Given the description of an element on the screen output the (x, y) to click on. 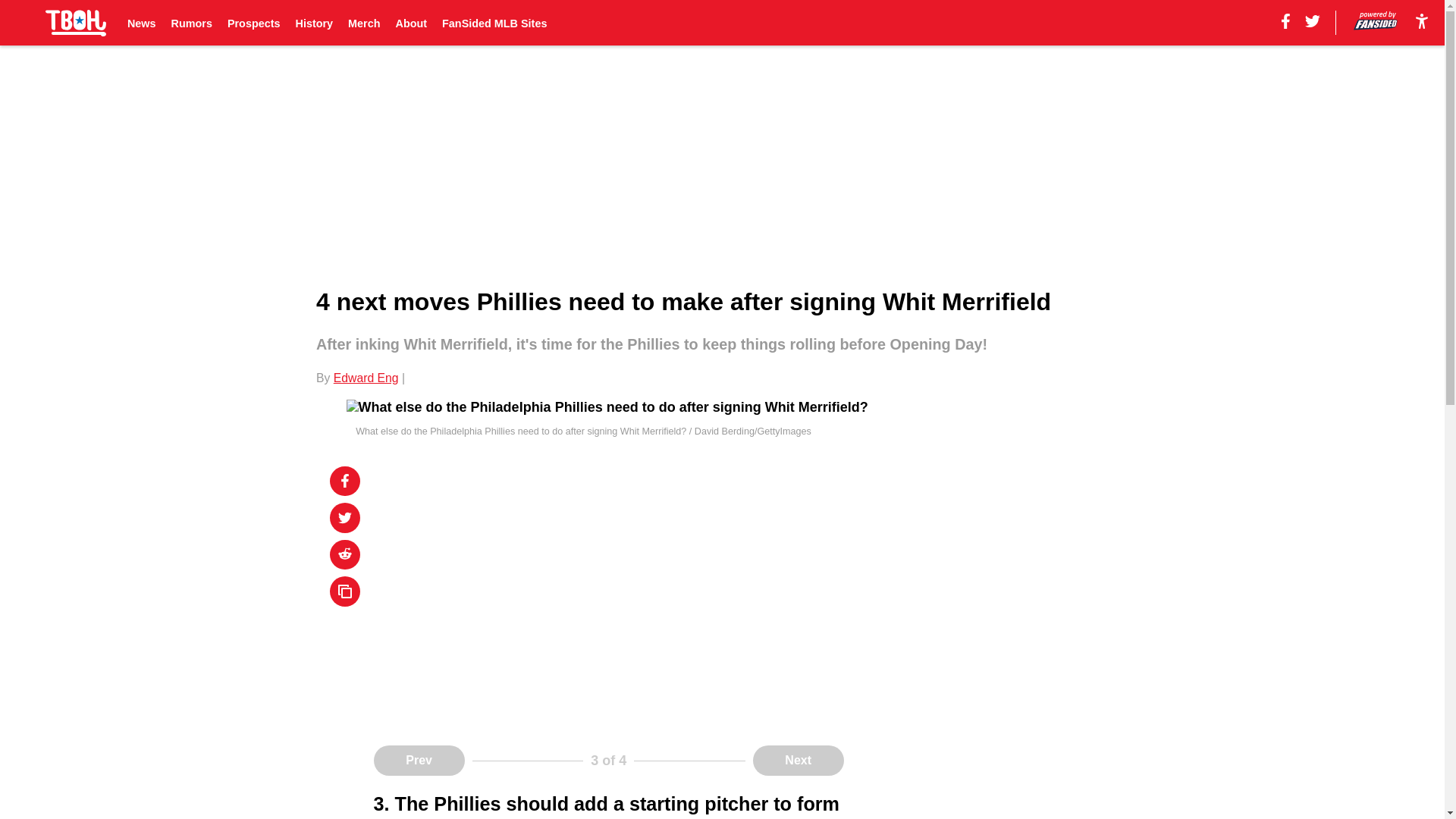
Merch (363, 23)
Prev (419, 760)
About (412, 23)
Next (798, 760)
News (141, 23)
Edward Eng (365, 377)
Prospects (254, 23)
FanSided MLB Sites (494, 23)
History (314, 23)
Rumors (191, 23)
